Given the description of an element on the screen output the (x, y) to click on. 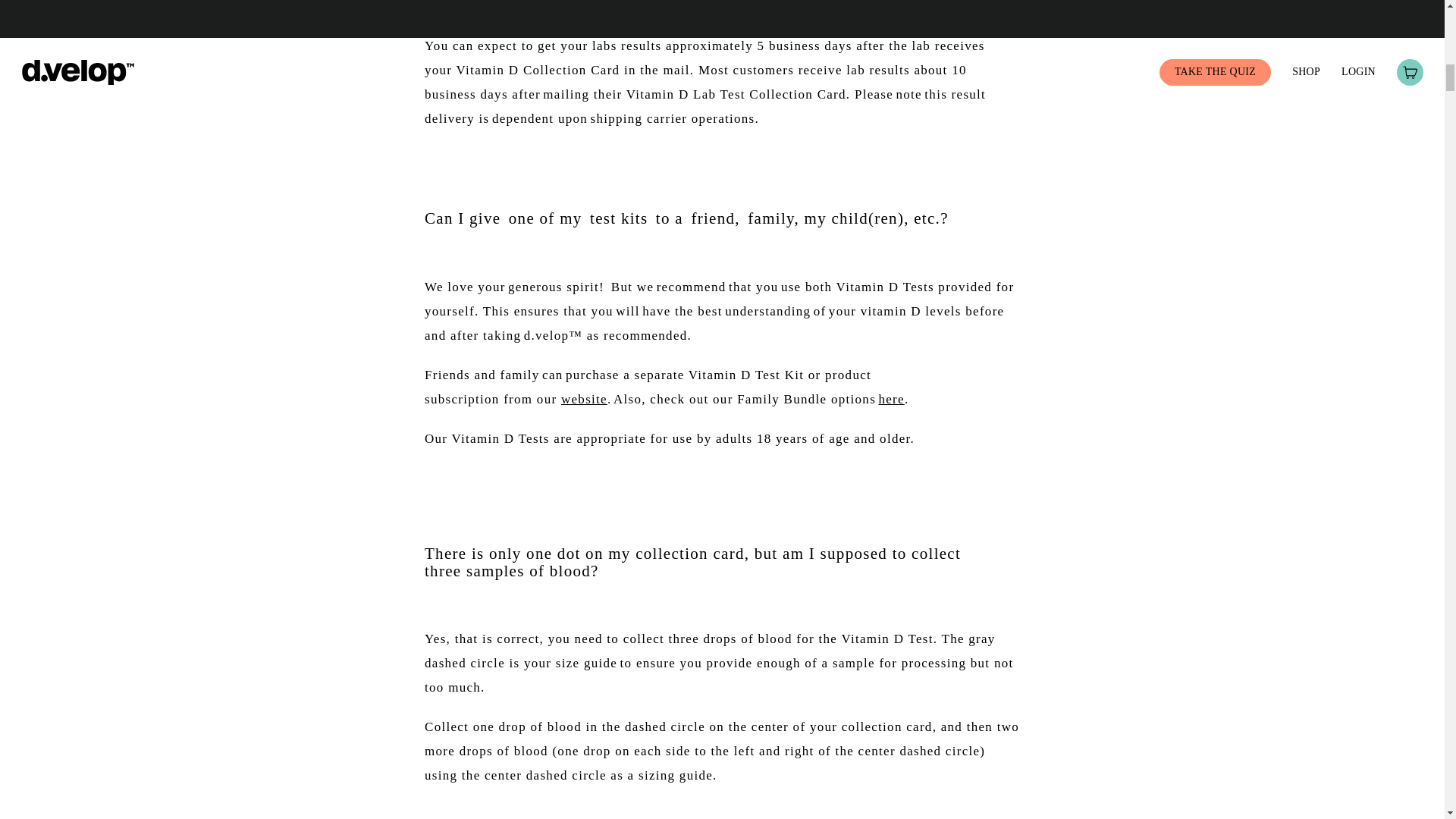
website (583, 399)
here (890, 399)
